Given the description of an element on the screen output the (x, y) to click on. 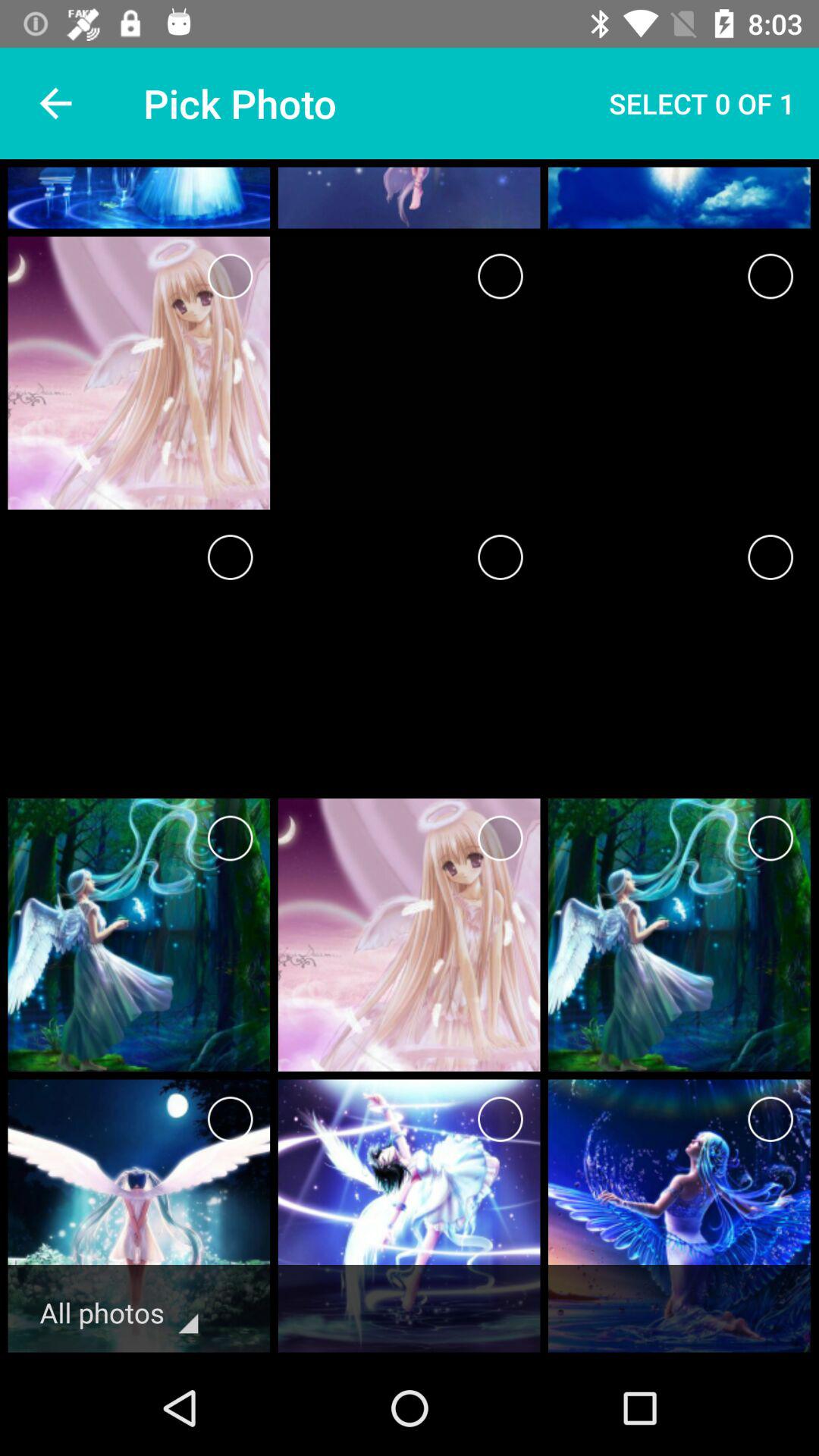
select photo (500, 276)
